Given the description of an element on the screen output the (x, y) to click on. 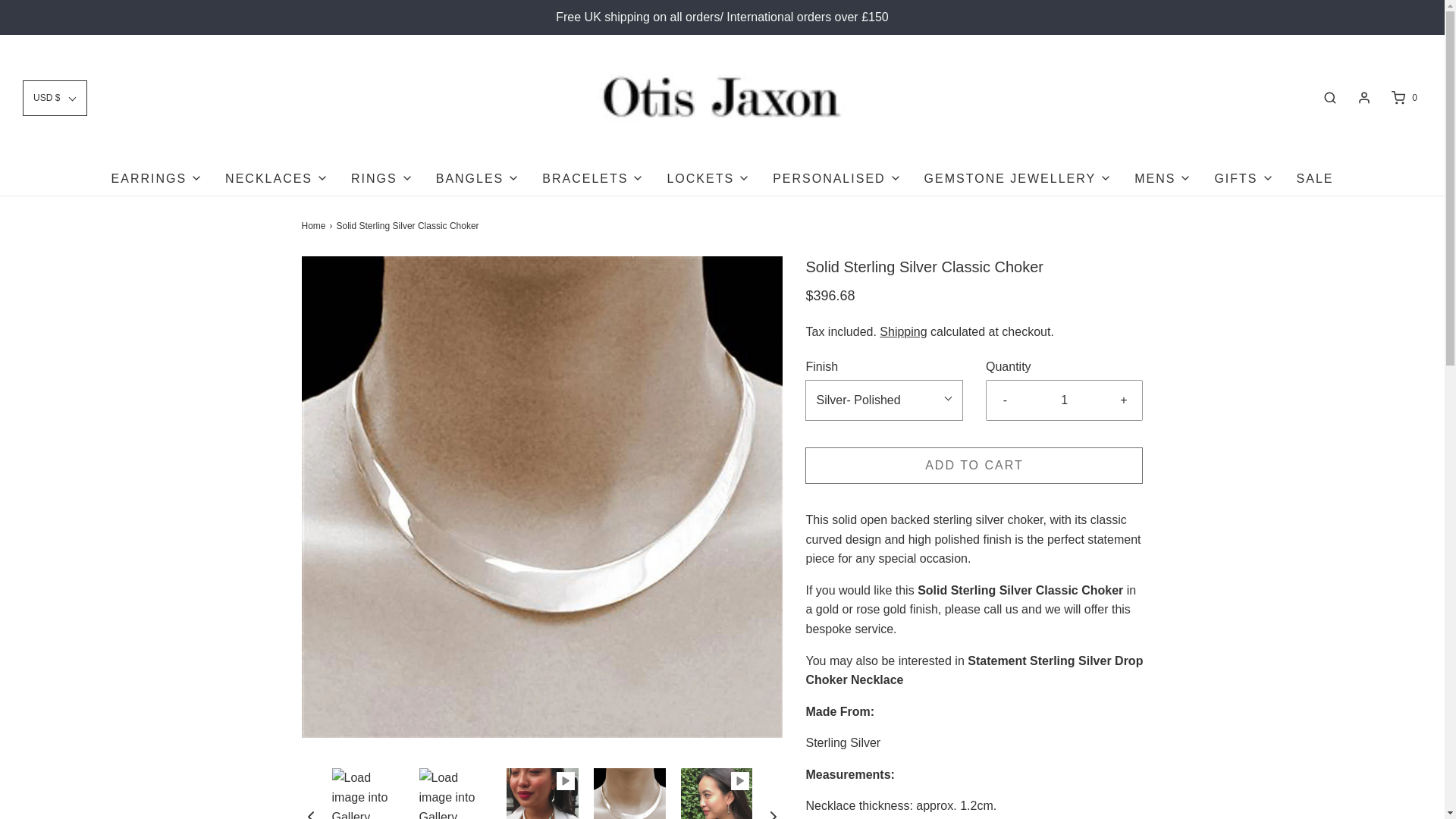
1 (1064, 400)
Cart (1403, 97)
Search (1329, 97)
Back to the frontpage (315, 226)
Log in (1364, 97)
